Given the description of an element on the screen output the (x, y) to click on. 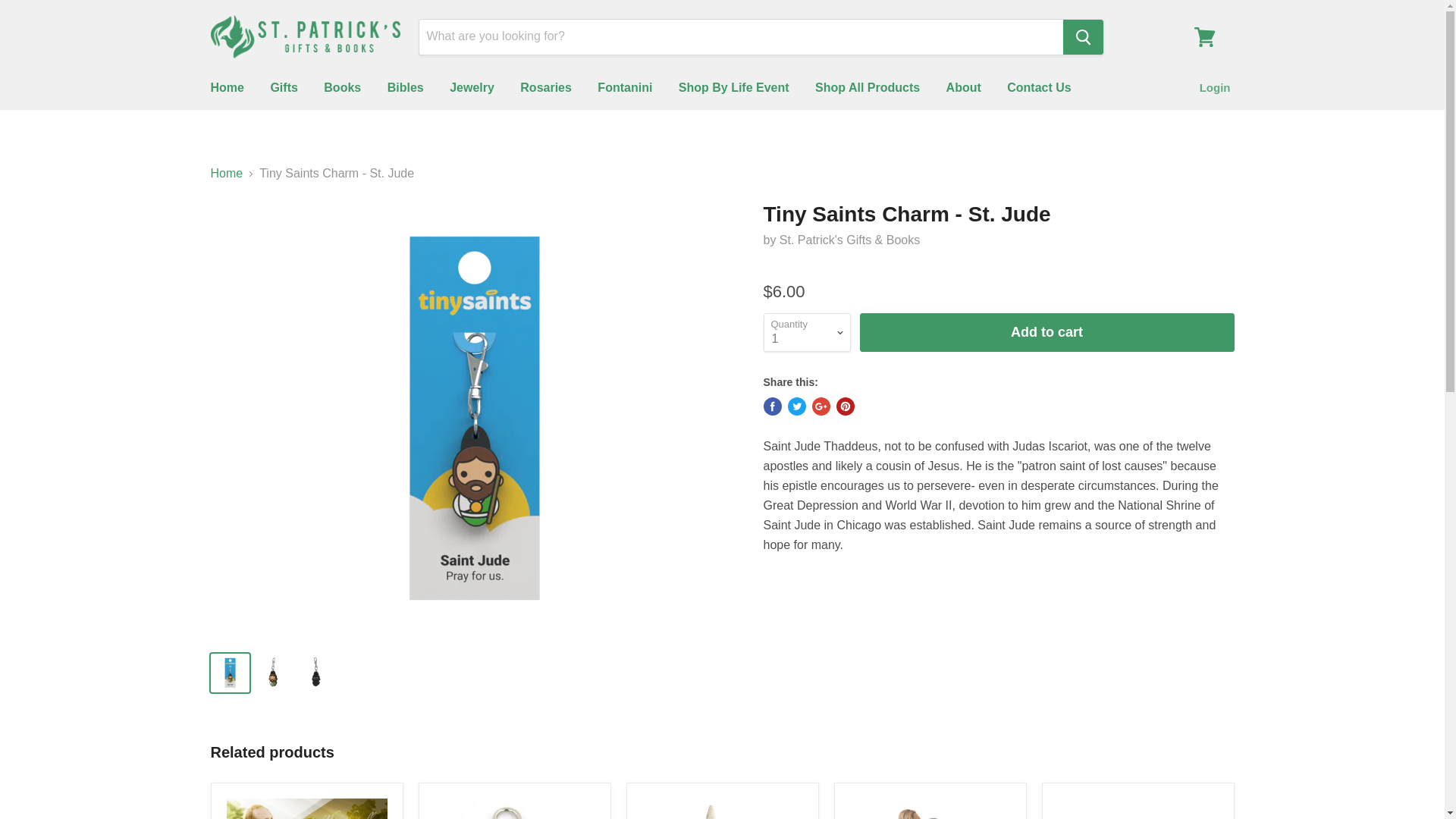
Home (226, 88)
View cart (1204, 36)
Gifts (283, 88)
